Given the description of an element on the screen output the (x, y) to click on. 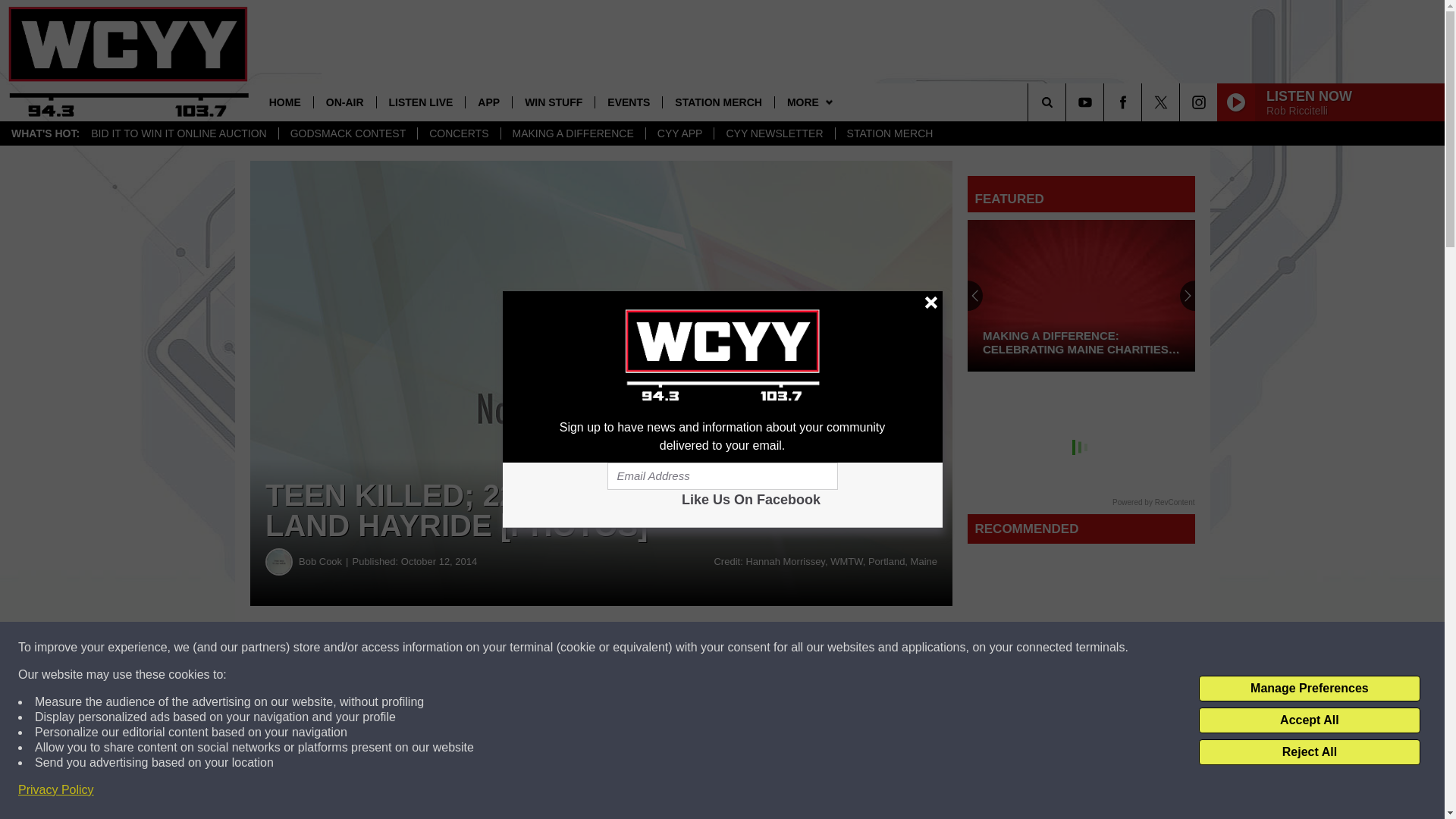
CONCERTS (457, 133)
MAKING A DIFFERENCE (572, 133)
BID IT TO WIN IT ONLINE AUCTION (179, 133)
STATION MERCH (889, 133)
Privacy Policy (55, 789)
Share on Twitter (741, 647)
Accept All (1309, 720)
CYY APP (679, 133)
Email Address (722, 475)
ON-AIR (344, 102)
GODSMACK CONTEST (347, 133)
HOME (285, 102)
STATION MERCH (718, 102)
LISTEN LIVE (420, 102)
EVENTS (628, 102)
